Given the description of an element on the screen output the (x, y) to click on. 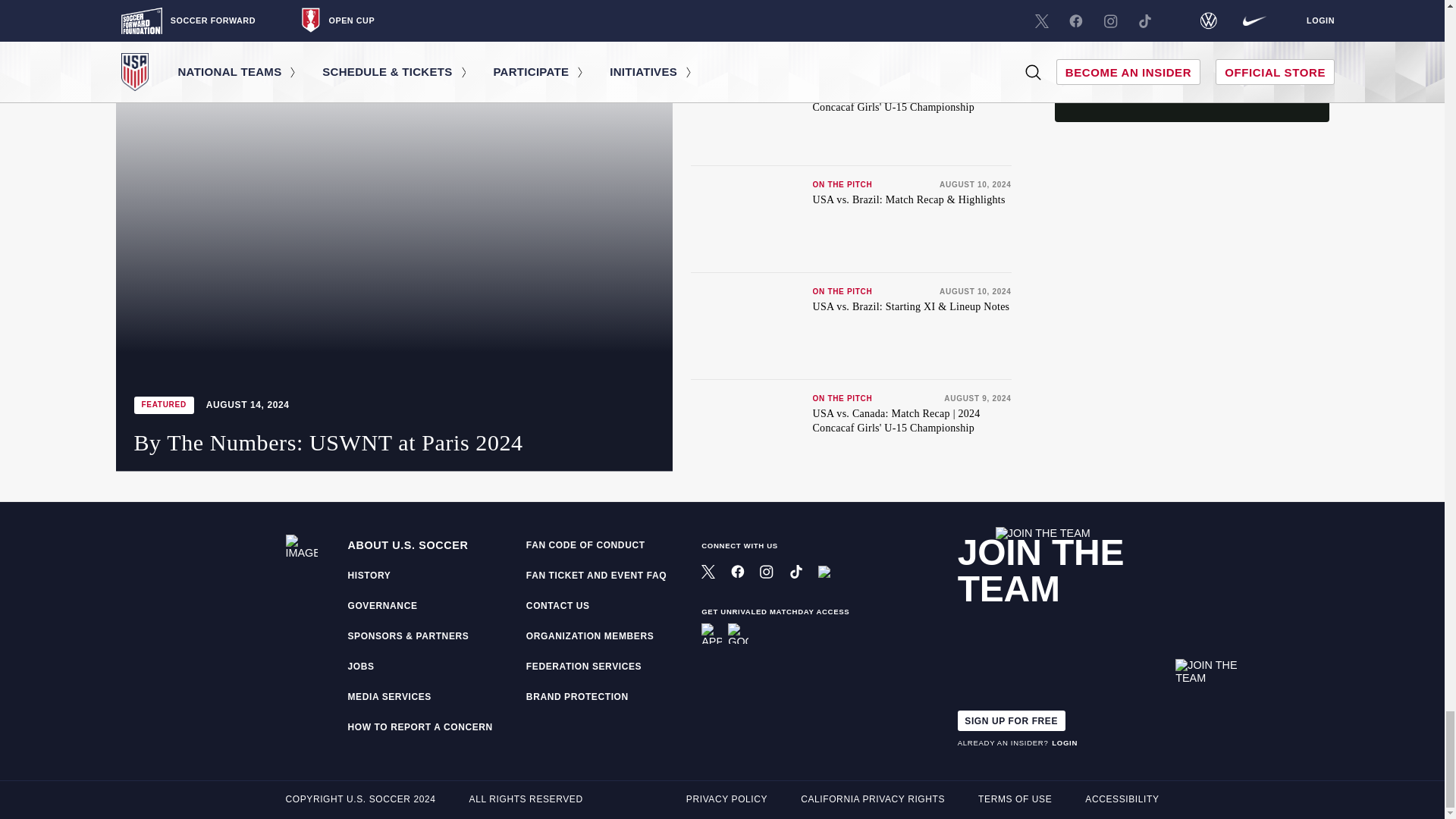
player- 6359646231112 (1190, 218)
player- 6360213478112 (1190, 61)
player- 6357210529112 (1190, 393)
